Given the description of an element on the screen output the (x, y) to click on. 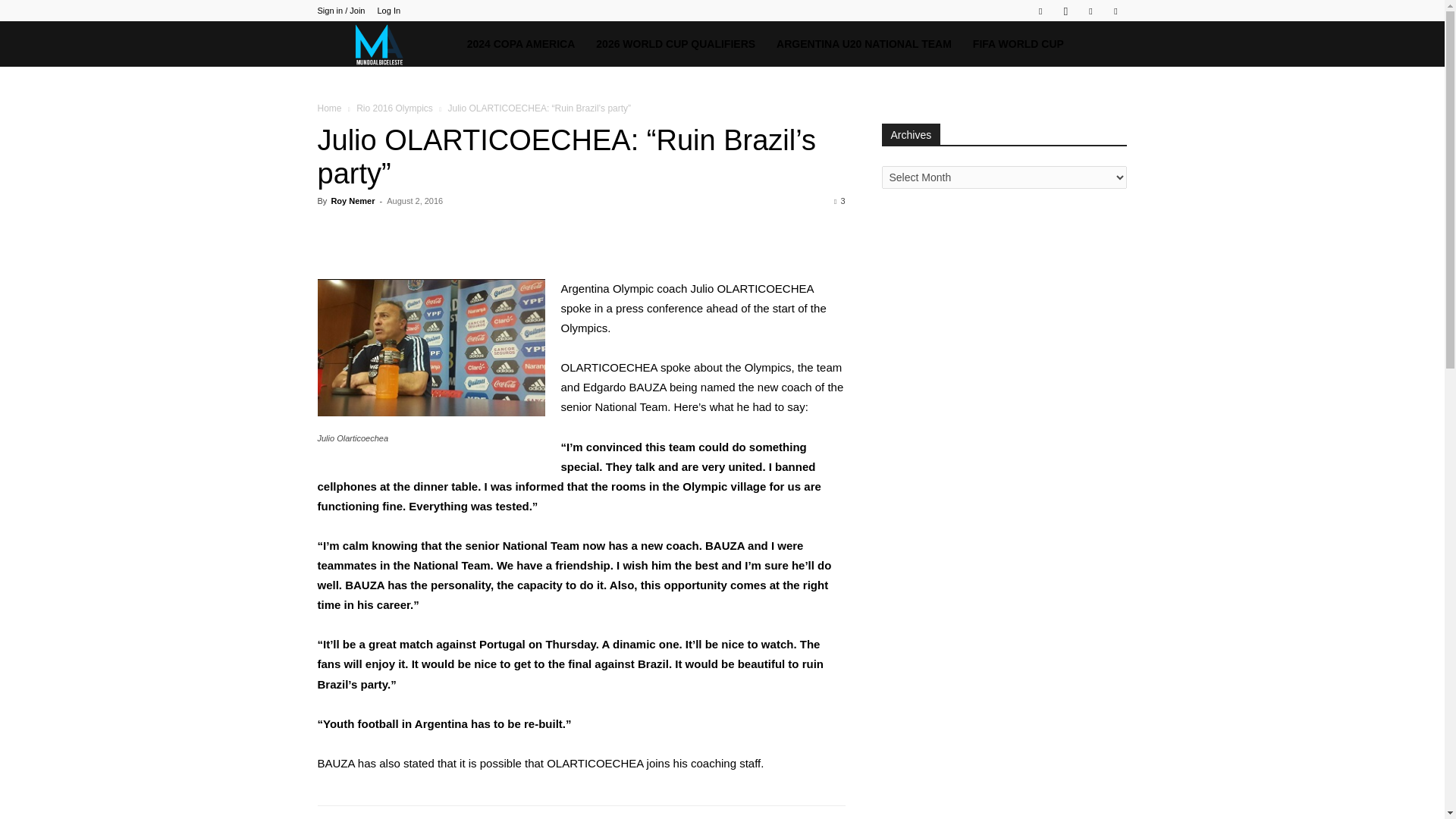
Mundo Albiceleste (386, 44)
Instagram (1065, 10)
3 (839, 200)
Facebook (1040, 10)
Youtube (1114, 10)
2026 WORLD CUP QUALIFIERS (675, 43)
Roy Nemer (352, 200)
Log In (388, 10)
Home (328, 108)
Twitter (1090, 10)
